Given the description of an element on the screen output the (x, y) to click on. 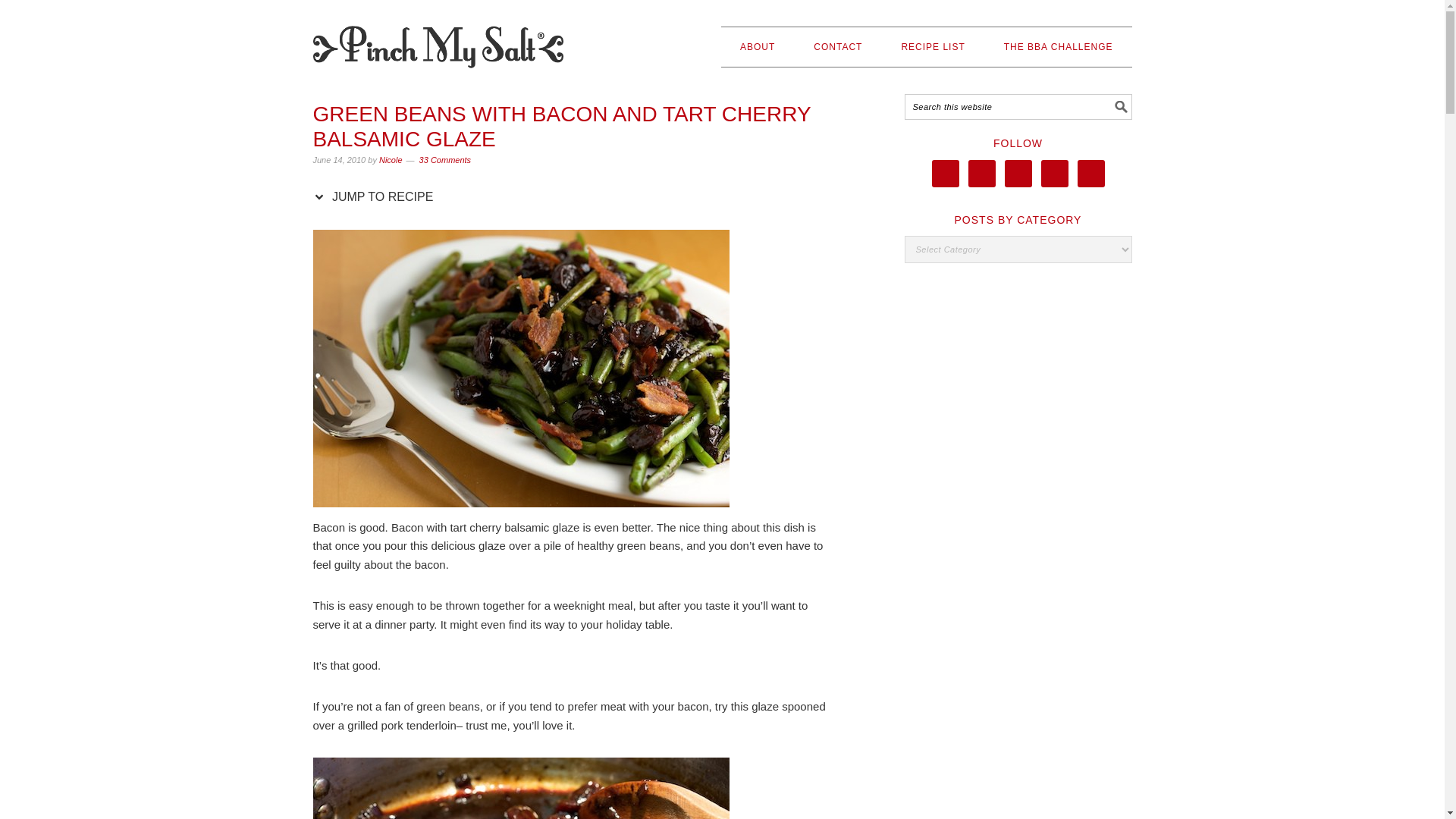
PINCH MY SALT (437, 40)
Nicole (390, 159)
Tart Cherry Balsamic Glaze (521, 788)
33 Comments (444, 159)
Green Beans with Tart Cherry Balsamic Glaze (521, 368)
THE BBA CHALLENGE (1058, 46)
RECIPE LIST (933, 46)
JUMP TO RECIPE (377, 196)
ABOUT (756, 46)
CONTACT (837, 46)
